Given the description of an element on the screen output the (x, y) to click on. 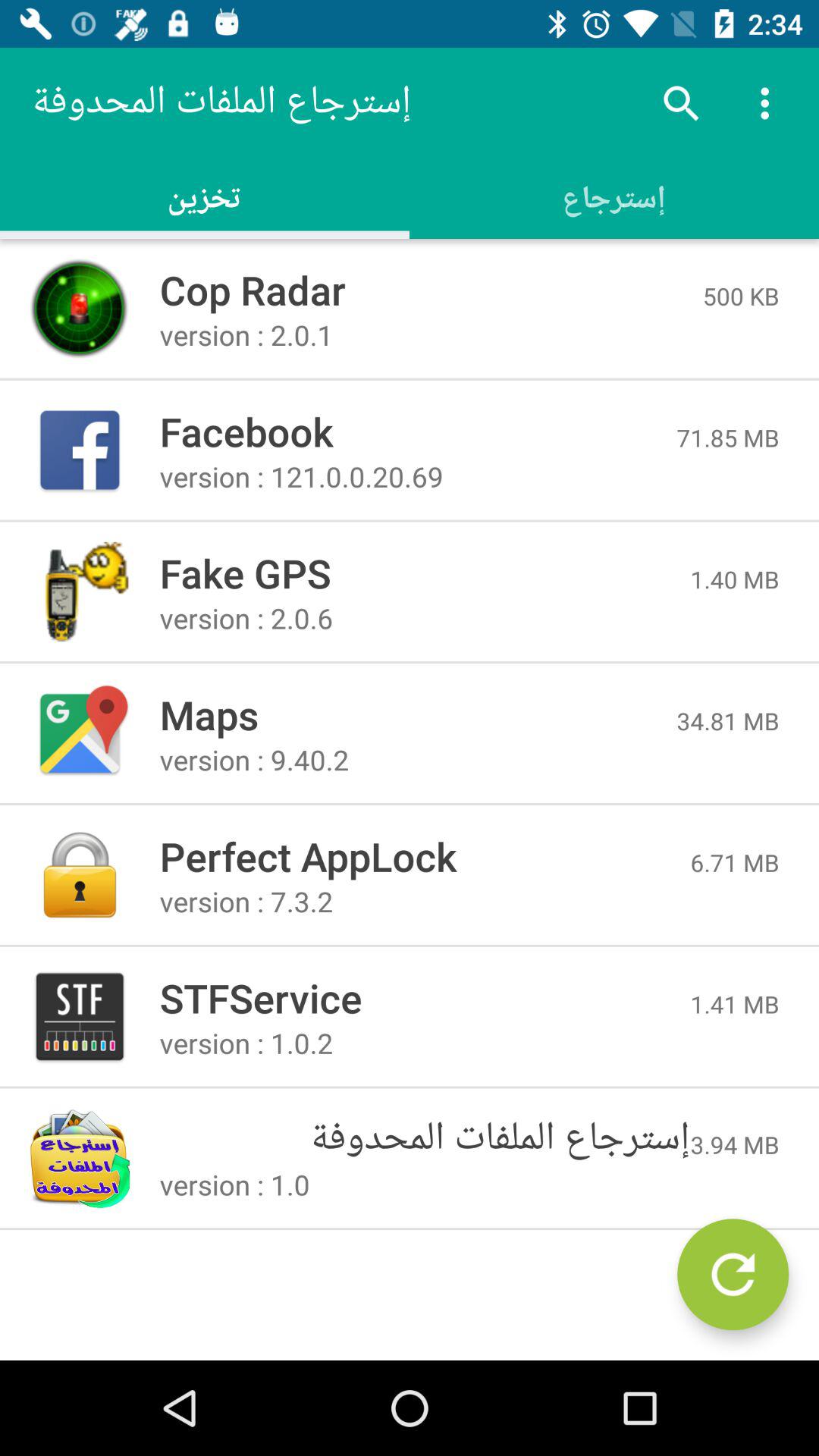
launch 34.81 mb icon (727, 720)
